Given the description of an element on the screen output the (x, y) to click on. 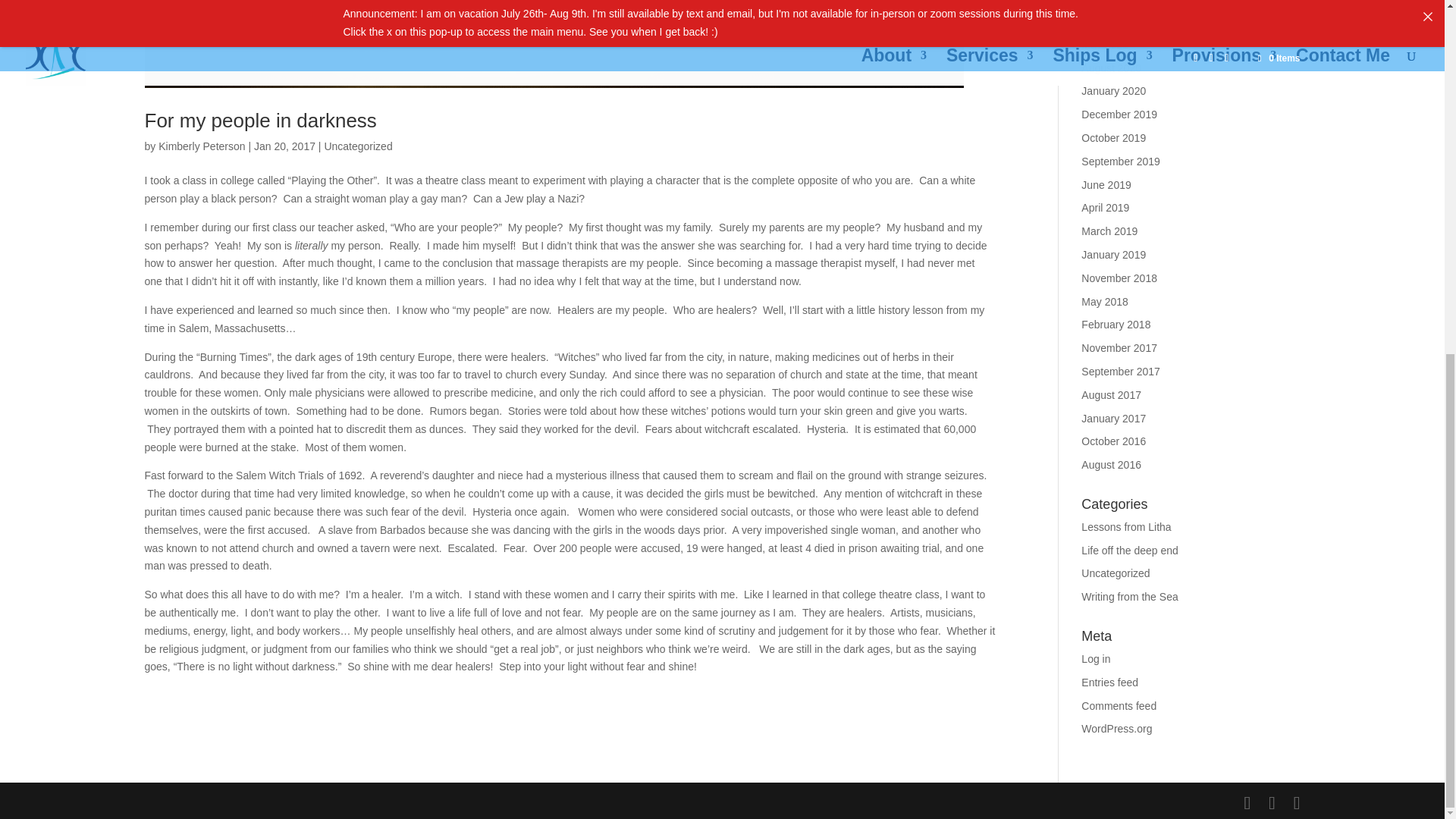
Posts by Kimberly Peterson (201, 146)
Kimberly Peterson (201, 146)
For my people in darkness (259, 119)
